Given the description of an element on the screen output the (x, y) to click on. 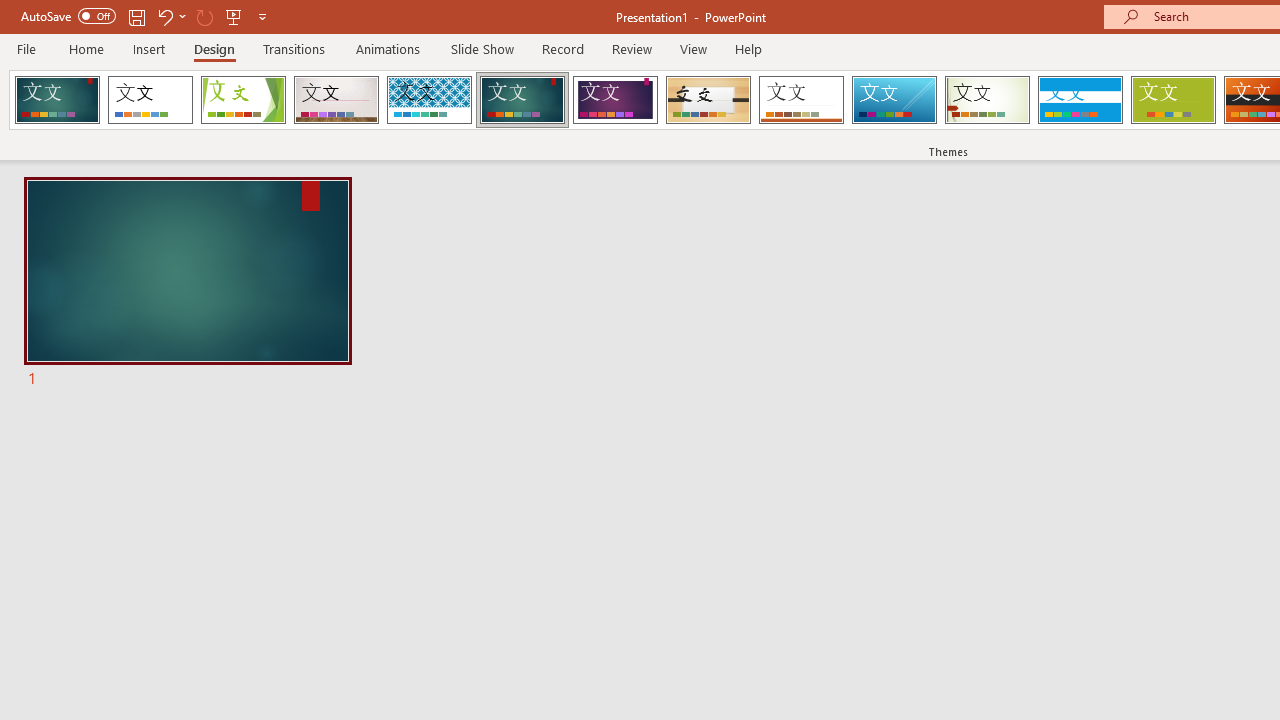
Office Theme (150, 100)
Ion Boardroom Loading Preview... (615, 100)
Integral Loading Preview... (429, 100)
Basis Loading Preview... (1172, 100)
